Given the description of an element on the screen output the (x, y) to click on. 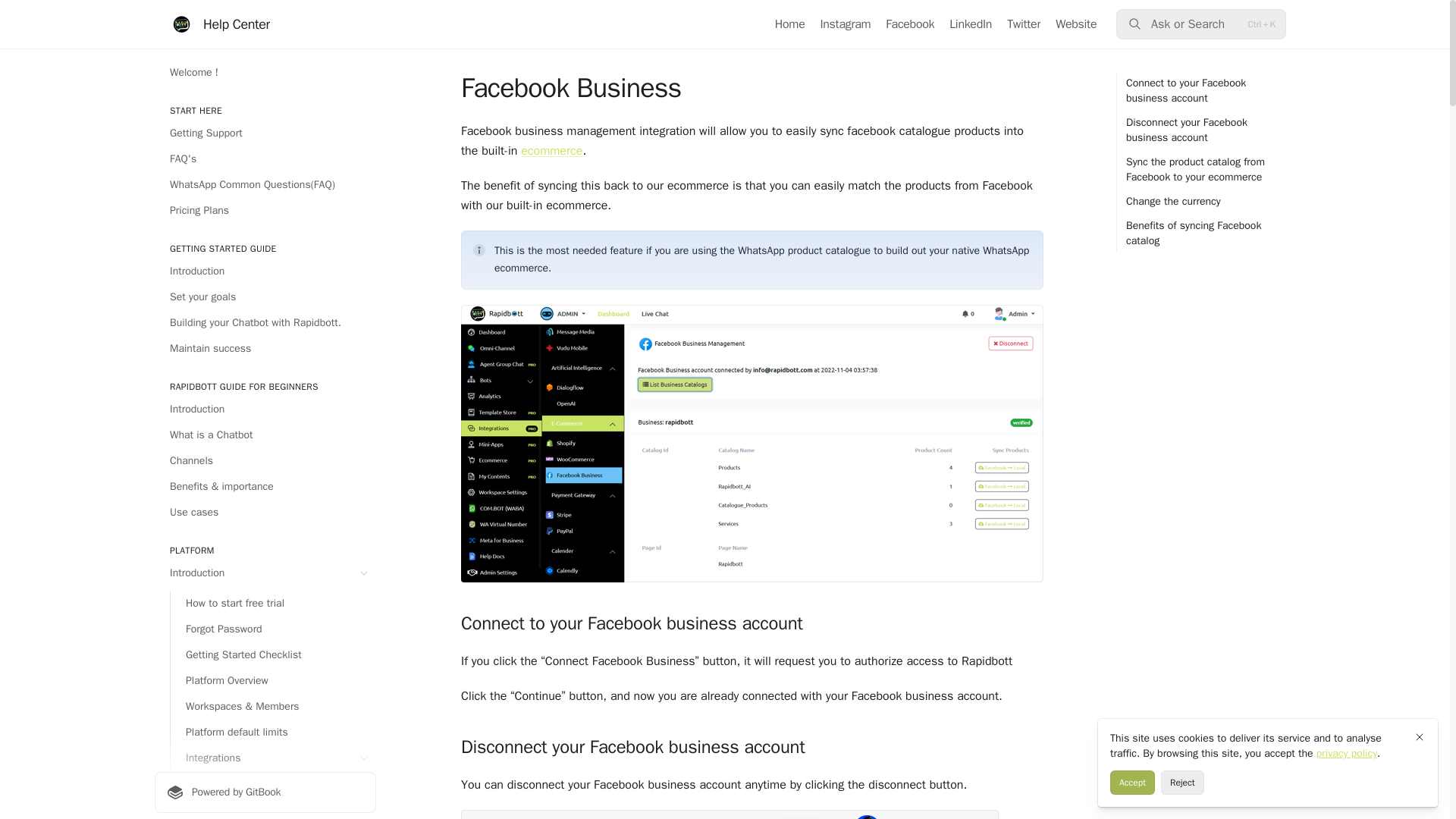
How to start free trial (272, 603)
What is a Chatbot (264, 435)
Use cases (264, 512)
Platform default limits (272, 732)
Stripe (280, 788)
FAQ's (264, 159)
Instagram (844, 24)
Welcome ! (264, 72)
Close (1419, 737)
Facebook (909, 24)
Building your Chatbot with Rapidbott. (264, 322)
Getting Support (264, 133)
Pricing Plans (264, 210)
Introduction (264, 573)
Channels (264, 460)
